Given the description of an element on the screen output the (x, y) to click on. 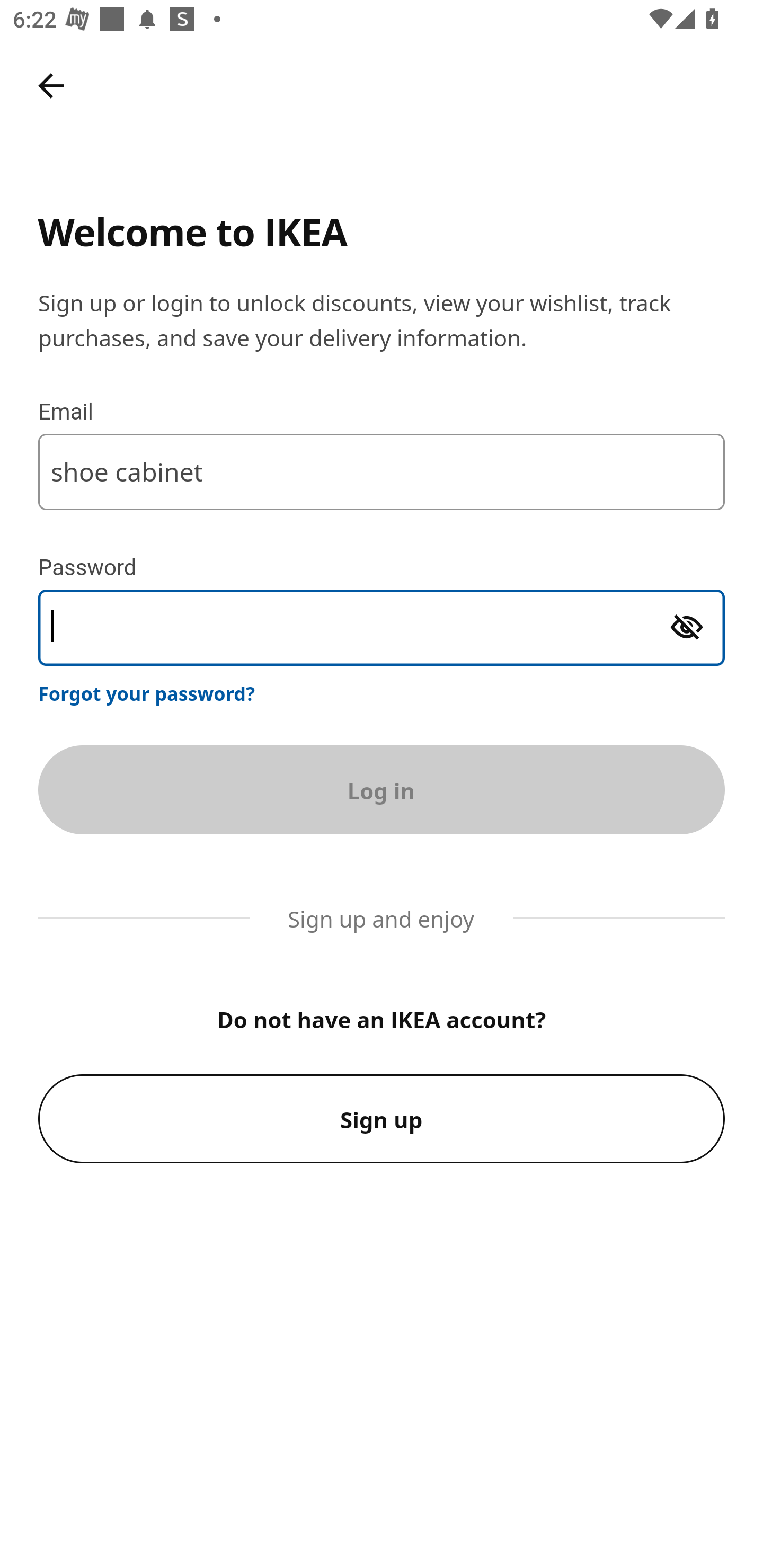
shoe cabinet (381, 471)
Forgot your password? (146, 692)
Log in (381, 789)
Sign up (381, 1118)
